Given the description of an element on the screen output the (x, y) to click on. 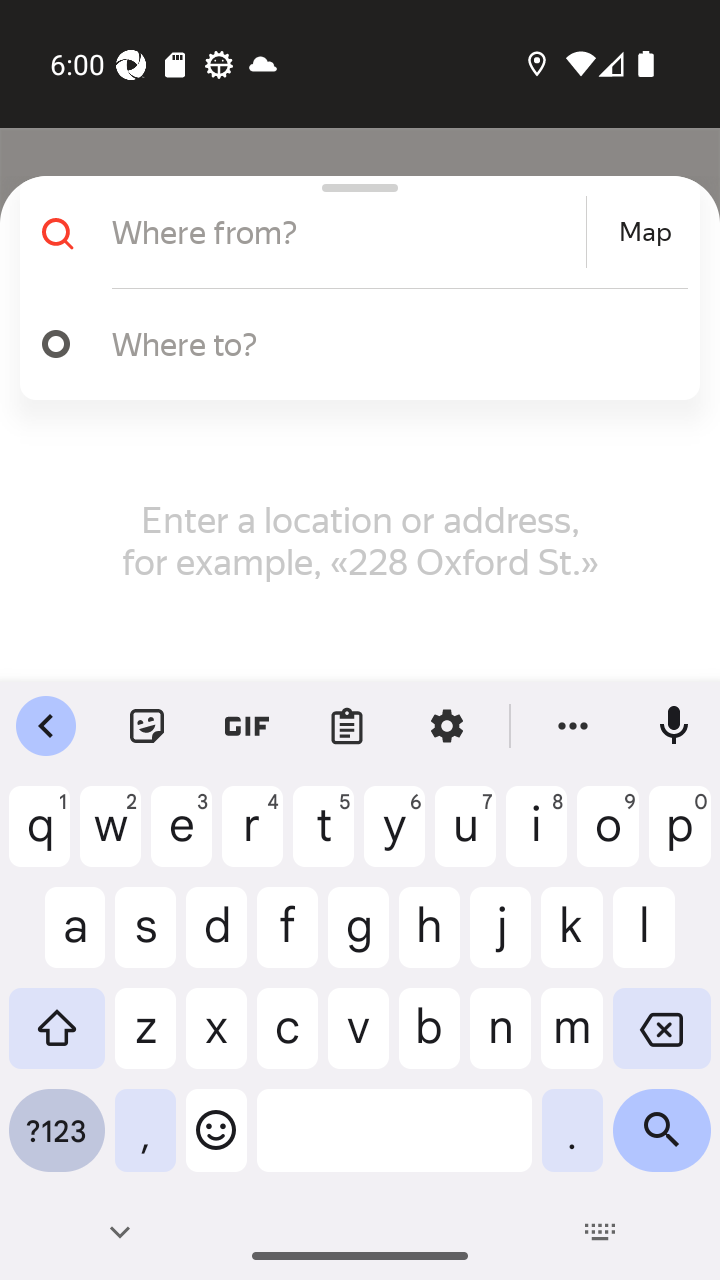
Where from? Map Map (352, 232)
Map (645, 232)
Where from? (346, 232)
Where to? (352, 343)
Where to? (390, 343)
